Given the description of an element on the screen output the (x, y) to click on. 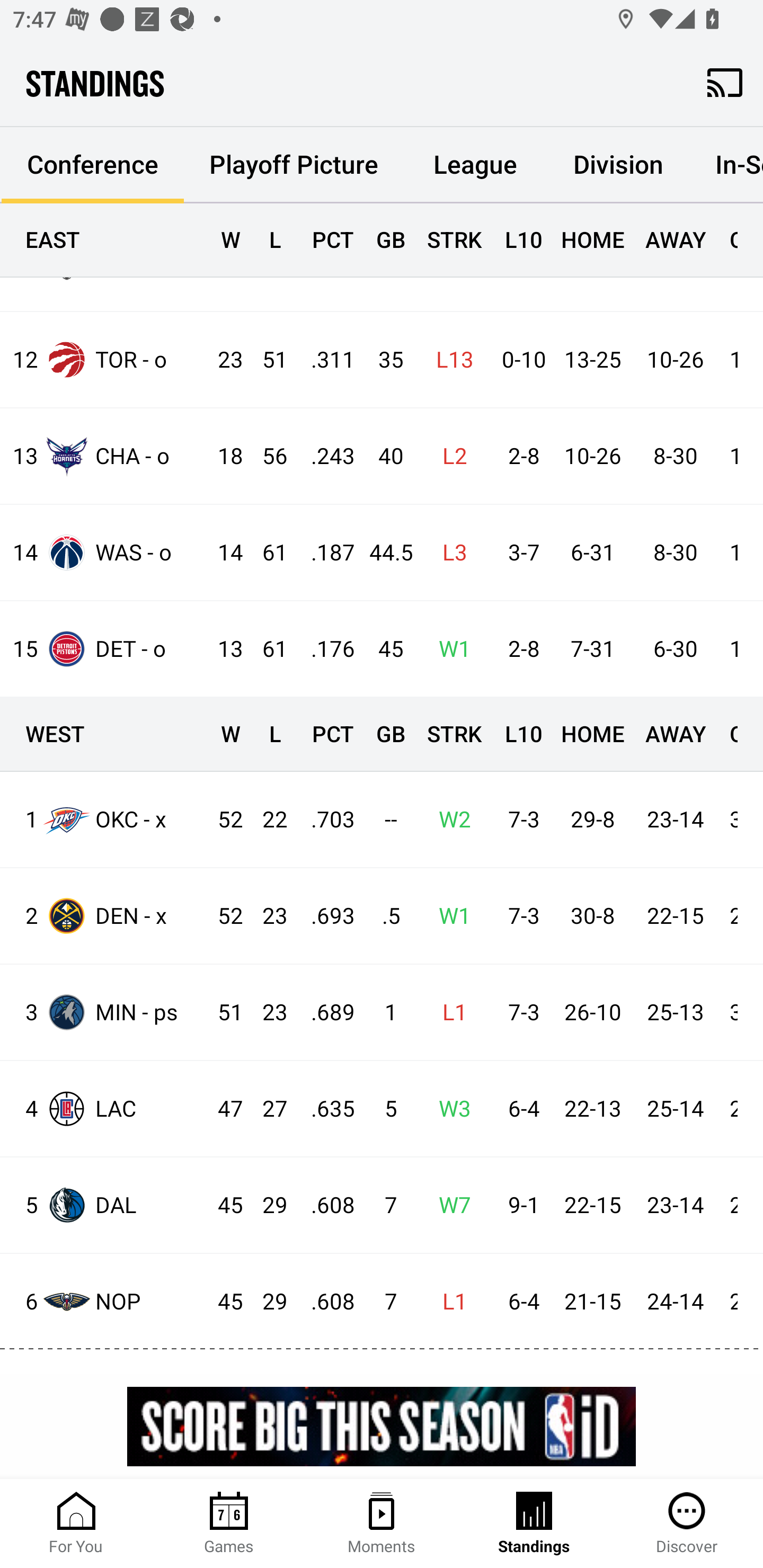
Cast. Disconnected (724, 82)
Playoff Picture (293, 165)
League (475, 165)
Division (618, 165)
11 BKN (104, 263)
12 TOR - o (104, 359)
51 (265, 359)
.311 (323, 359)
35 (382, 359)
L13 (449, 359)
0-10 (518, 359)
13-25 (592, 359)
10-26 (675, 359)
13 CHA - o (104, 455)
56 (265, 456)
.243 (323, 456)
40 (382, 456)
L2 (449, 456)
2-8 (518, 456)
10-26 (592, 456)
8-30 (675, 456)
14 WAS - o (104, 552)
61 (265, 552)
.187 (323, 552)
44.5 (382, 552)
L3 (449, 552)
3-7 (518, 552)
6-31 (592, 552)
8-30 (675, 552)
15 DET - o (104, 648)
61 (265, 649)
.176 (323, 649)
45 (382, 649)
W1 (449, 649)
2-8 (518, 649)
7-31 (592, 649)
6-30 (675, 649)
1 OKC - x (104, 819)
22 (265, 819)
.703 (323, 819)
-- (382, 819)
W2 (449, 819)
7-3 (518, 819)
29-8 (592, 819)
23-14 (675, 819)
2 DEN - x (104, 916)
23 (265, 916)
.693 (323, 916)
.5 (382, 916)
W1 (449, 916)
7-3 (518, 916)
30-8 (592, 916)
22-15 (675, 916)
3 MIN - ps (104, 1011)
23 (265, 1012)
.689 (323, 1012)
1 (382, 1012)
L1 (449, 1012)
7-3 (518, 1012)
26-10 (592, 1012)
25-13 (675, 1012)
4 LAC (104, 1109)
27 (265, 1108)
.635 (323, 1108)
5 (382, 1108)
W3 (449, 1108)
6-4 (518, 1108)
22-13 (592, 1108)
25-14 (675, 1108)
5 DAL (104, 1204)
29 (265, 1205)
.608 (323, 1205)
7 (382, 1205)
W7 (449, 1205)
9-1 (518, 1205)
22-15 (592, 1205)
23-14 (675, 1205)
6 NOP (104, 1301)
29 (265, 1301)
.608 (323, 1301)
7 (382, 1301)
L1 (449, 1301)
6-4 (518, 1301)
21-15 (592, 1301)
24-14 (675, 1301)
g5nqqygr7owph (381, 1426)
For You (76, 1523)
Games (228, 1523)
Moments (381, 1523)
Discover (686, 1523)
